Given the description of an element on the screen output the (x, y) to click on. 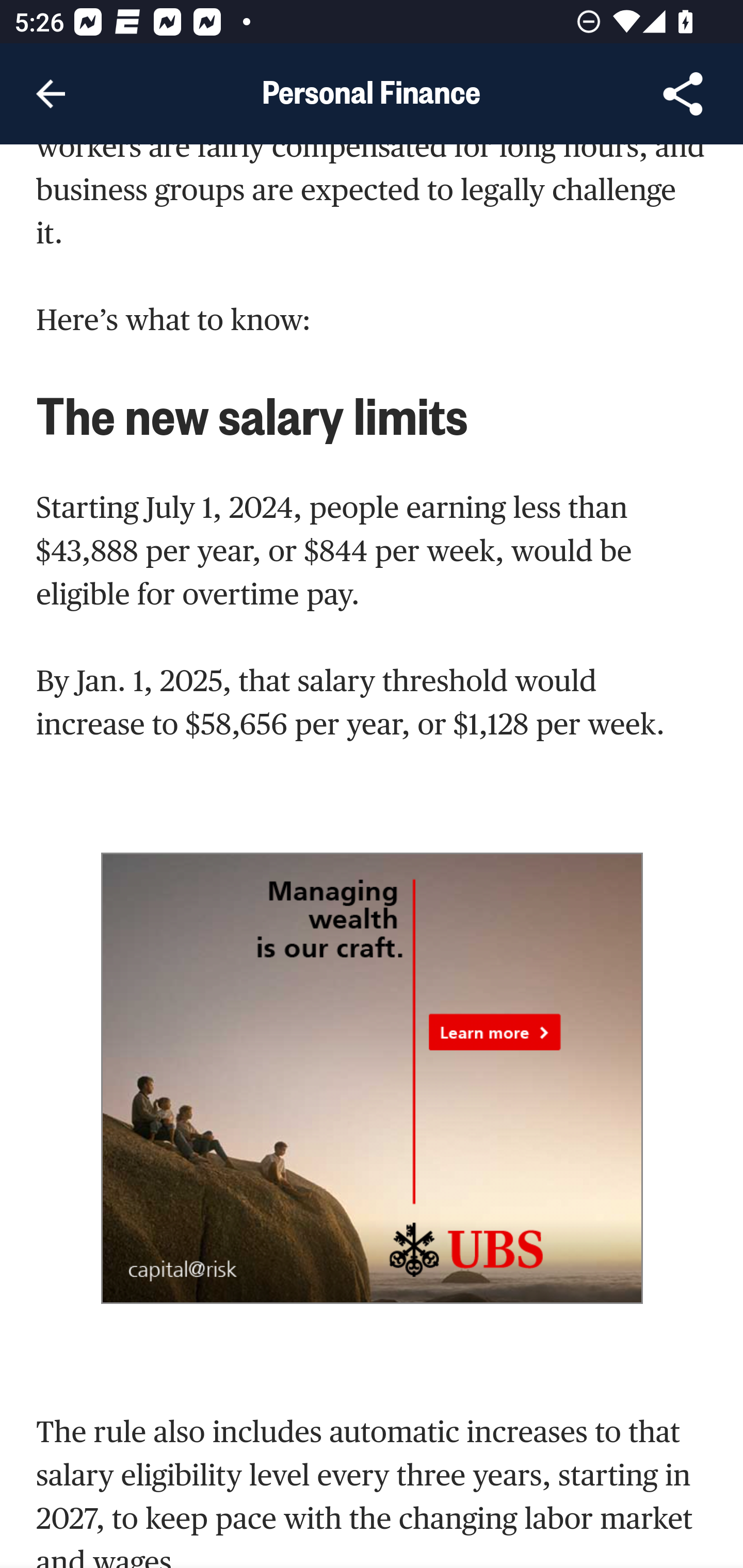
Navigate up (50, 93)
Share Article, button (683, 94)
